Given the description of an element on the screen output the (x, y) to click on. 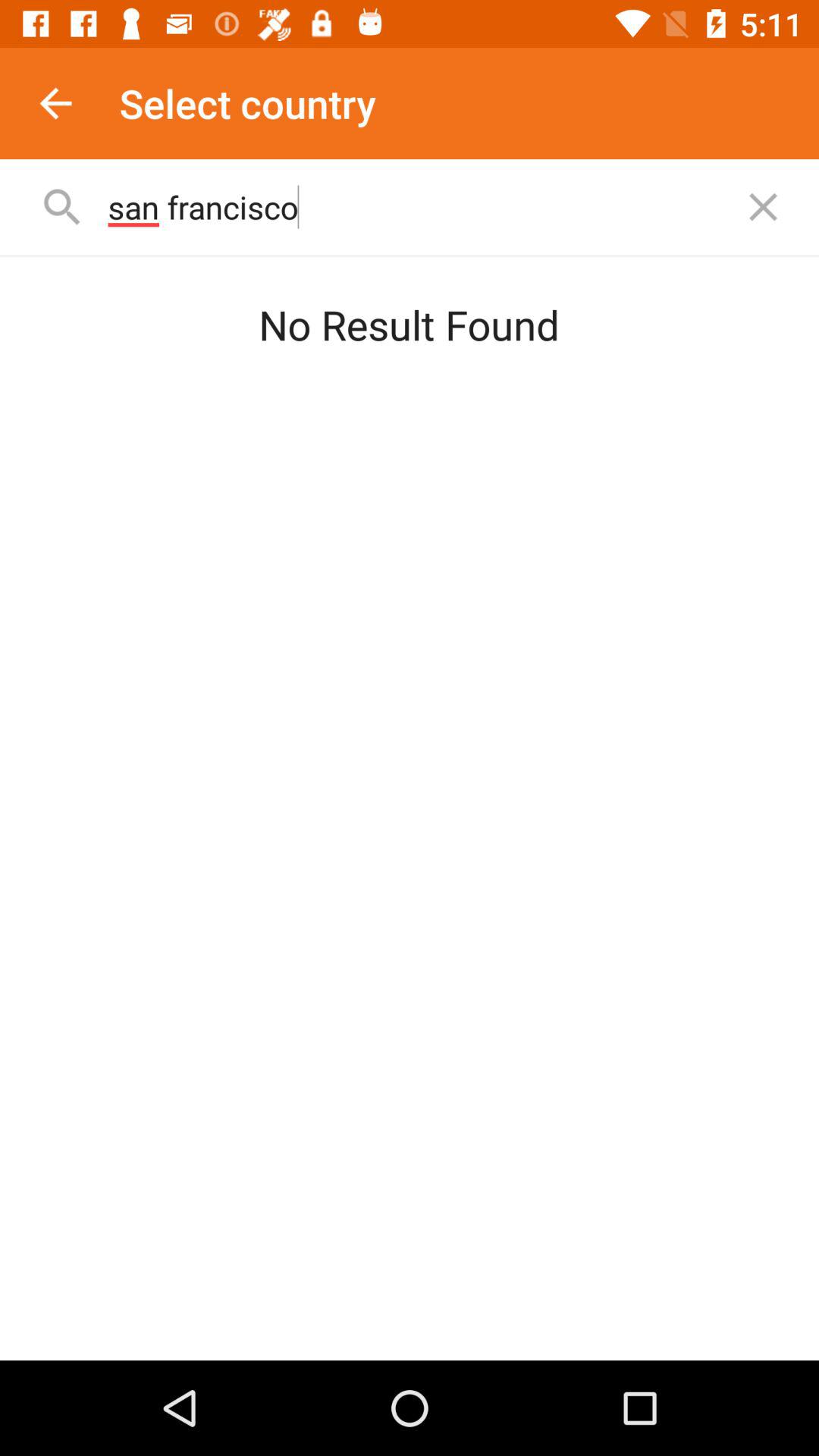
turn off the icon at the top right corner (763, 206)
